Given the description of an element on the screen output the (x, y) to click on. 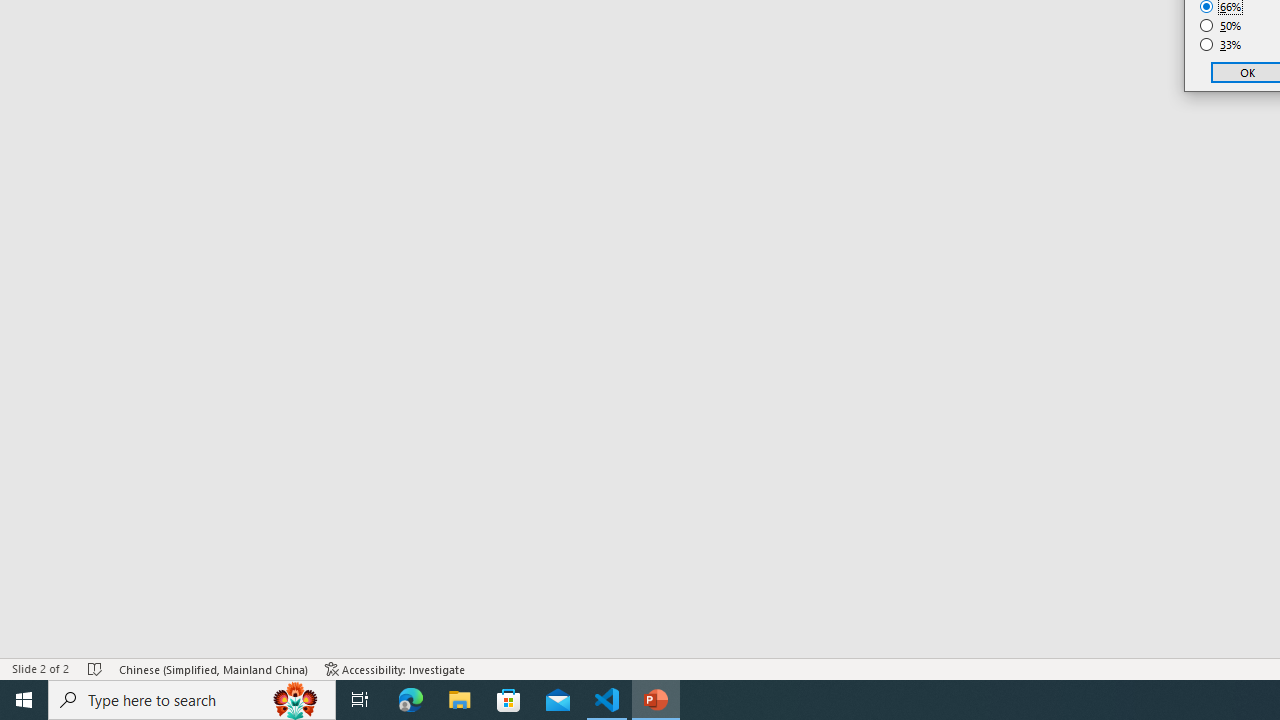
50% (1221, 25)
33% (1221, 44)
Microsoft Edge (411, 699)
